Given the description of an element on the screen output the (x, y) to click on. 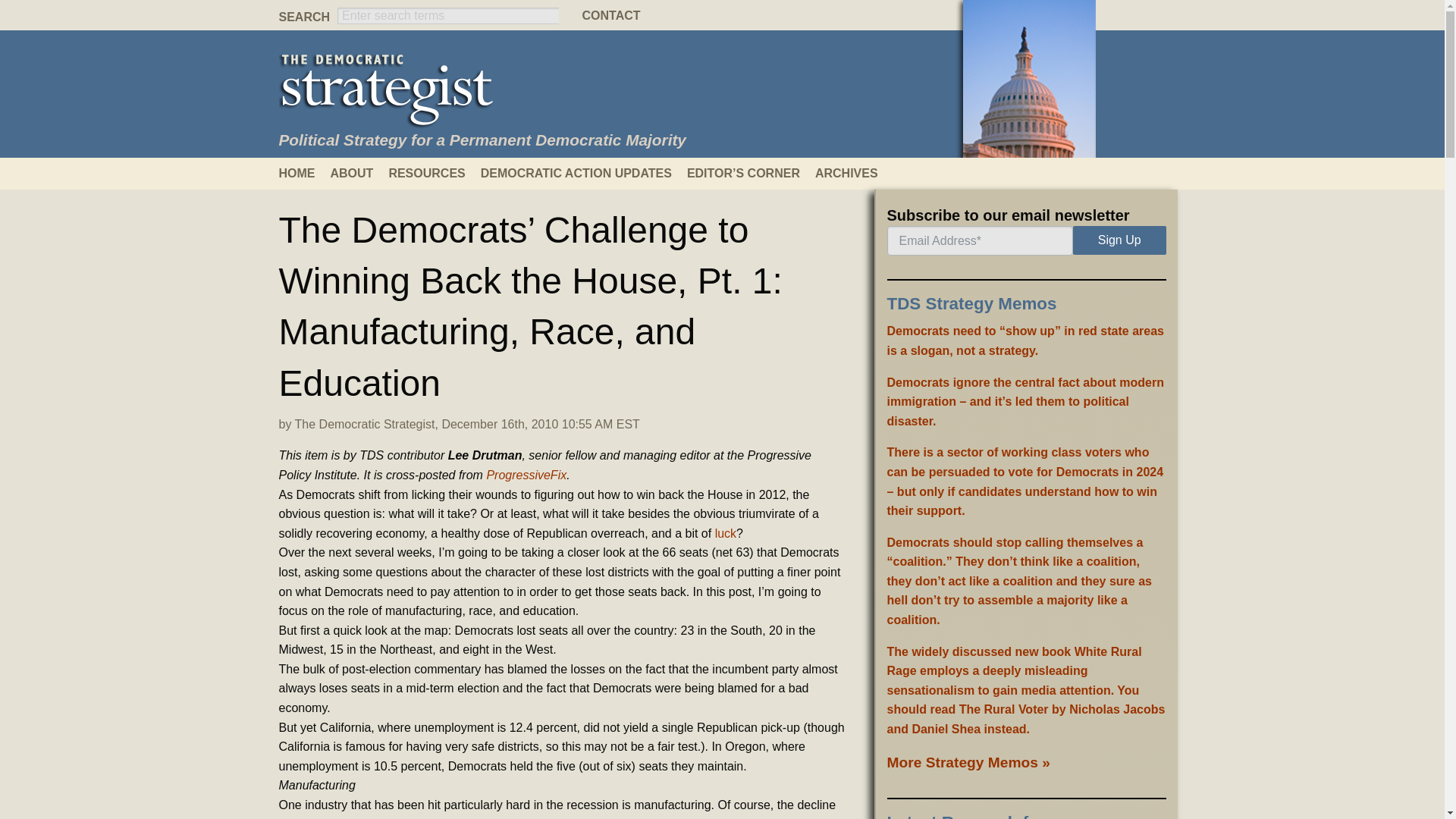
ProgressiveFix (526, 474)
luck (725, 533)
RESOURCES (434, 173)
Sign Up (1119, 240)
Posts by The Democratic Strategist (365, 423)
DEMOCRATIC ACTION UPDATES (583, 173)
CONTACT (720, 15)
HOME (304, 173)
ARCHIVES (854, 173)
ABOUT (359, 173)
The Democratic Strategist (365, 423)
